Given the description of an element on the screen output the (x, y) to click on. 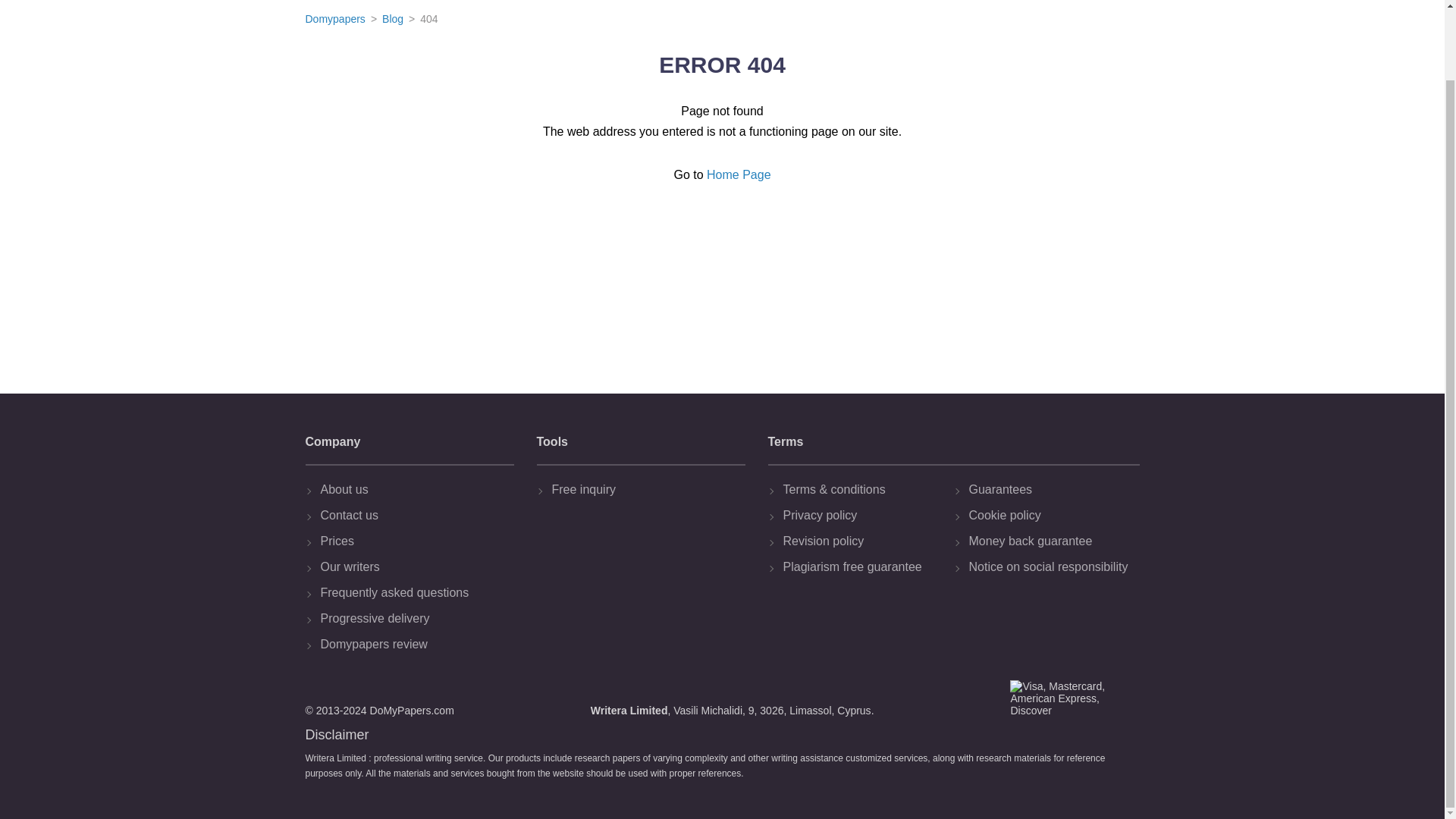
Guarantees (1050, 489)
Our writers (412, 567)
Free Inquiry (644, 489)
Frequently asked questions (412, 592)
Blog (392, 19)
Our writers (412, 567)
Prices (412, 540)
Home Page (738, 174)
Domypapers (334, 19)
Domypapers review (412, 644)
Revision Police (863, 540)
About Us (412, 489)
Contact us (412, 515)
Plagiarism Free Guarantee (863, 567)
About us (412, 489)
